Given the description of an element on the screen output the (x, y) to click on. 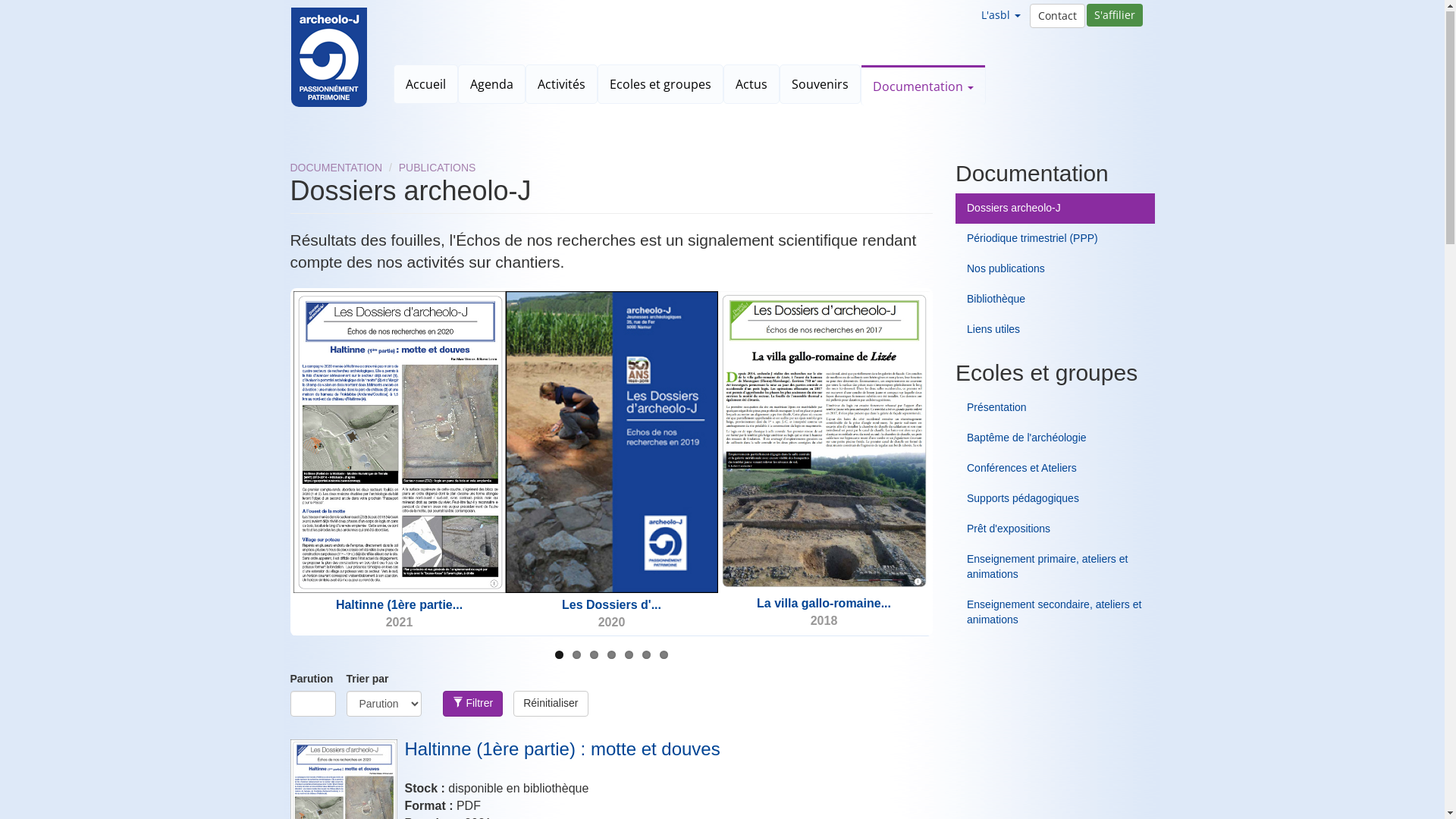
PUBLICATIONS Element type: text (437, 168)
3 Element type: text (593, 655)
Contact Element type: text (1057, 16)
5 Element type: text (628, 655)
Dossiers archeolo-J Element type: text (1054, 209)
Agenda Element type: text (491, 84)
Enseignement primaire, ateliers et animations Element type: text (1054, 567)
Actus Element type: text (750, 84)
Nos publications Element type: text (1054, 269)
Accueil Element type: hover (334, 57)
S'affilier Element type: text (1113, 15)
DOCUMENTATION Element type: text (335, 168)
Aller au contenu principal Element type: text (0, 0)
Accueil Element type: text (425, 84)
Les Dossiers d'... Element type: text (611, 605)
Documentation Element type: text (923, 85)
7 Element type: text (663, 655)
Filtrer Element type: text (472, 704)
La villa gallo-romaine... Element type: text (823, 603)
1 Element type: text (559, 655)
Souvenirs Element type: text (819, 84)
Liens utiles Element type: text (1054, 330)
L'asbl Element type: text (1000, 15)
4 Element type: text (611, 655)
Enseignement secondaire, ateliers et animations Element type: text (1054, 613)
Ecoles et groupes Element type: text (659, 84)
6 Element type: text (646, 655)
2 Element type: text (576, 655)
